Given the description of an element on the screen output the (x, y) to click on. 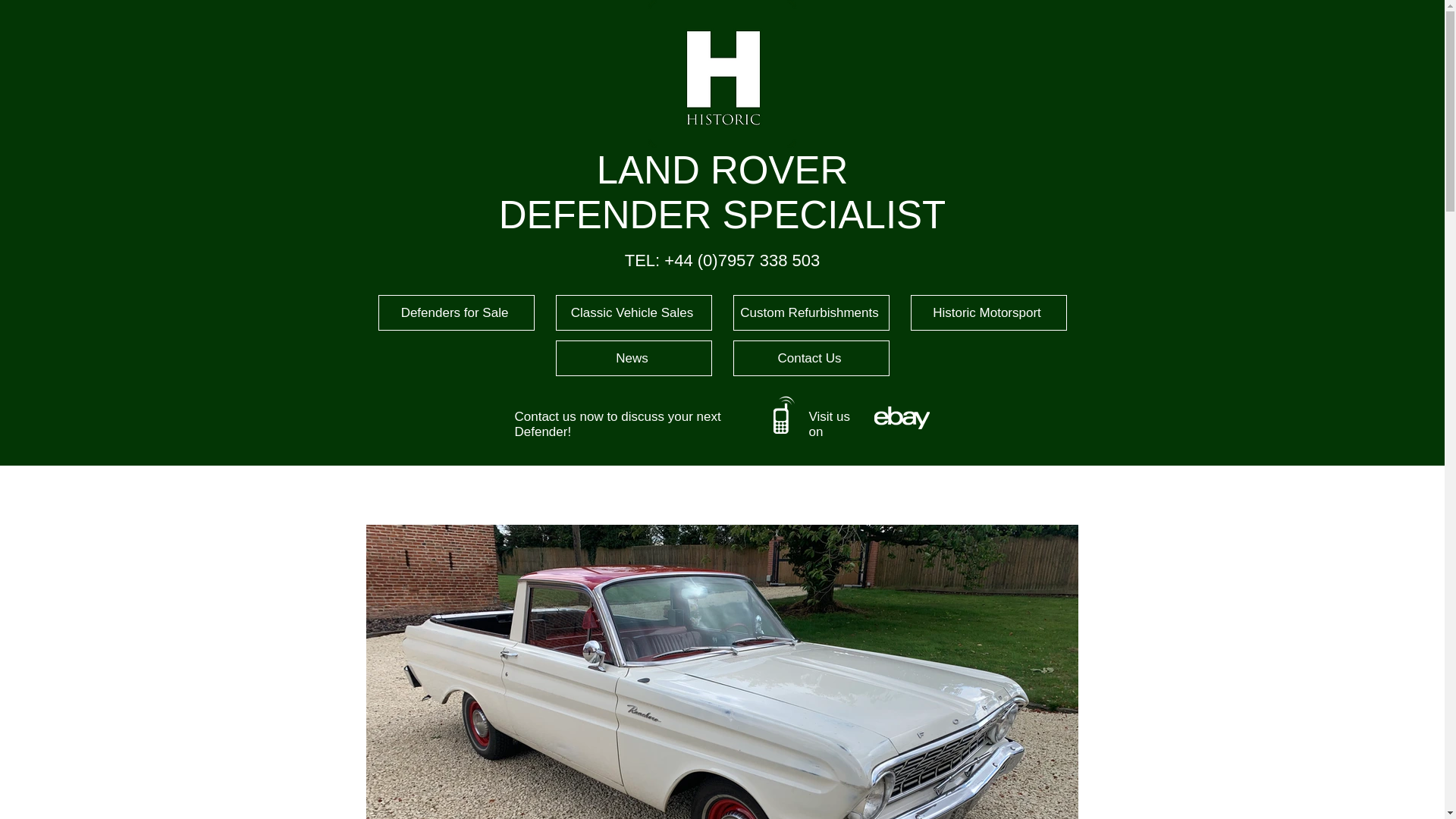
Contact Us (810, 357)
discuss your next (670, 416)
Classic Vehicle Sales (632, 312)
CLICK HERE TO CALL US (784, 412)
Defender! (541, 431)
Historic Motorsport (987, 312)
Visit us on (829, 424)
Defenders for Sale (455, 312)
News (632, 357)
LAND ROVER DEFENDER SPECIALIST (721, 192)
